Given the description of an element on the screen output the (x, y) to click on. 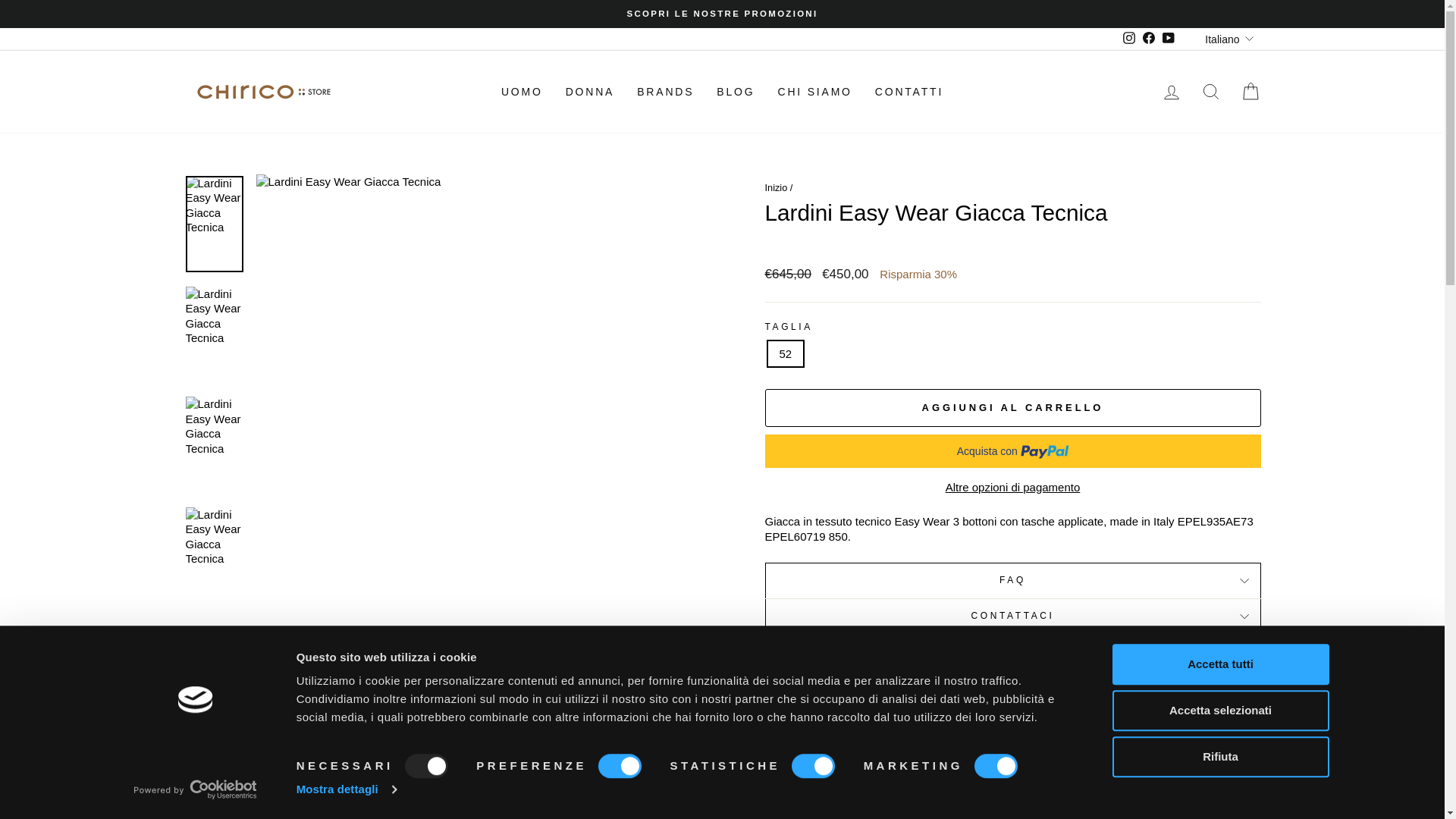
Torna alla prima pagina (775, 187)
Chirico Store su Instagram (1128, 38)
Chirico Store su Facebook (1148, 38)
Mostra dettagli (346, 789)
Condividi su Facebook (1012, 664)
Chirico Store su YouTube (1167, 38)
